Given the description of an element on the screen output the (x, y) to click on. 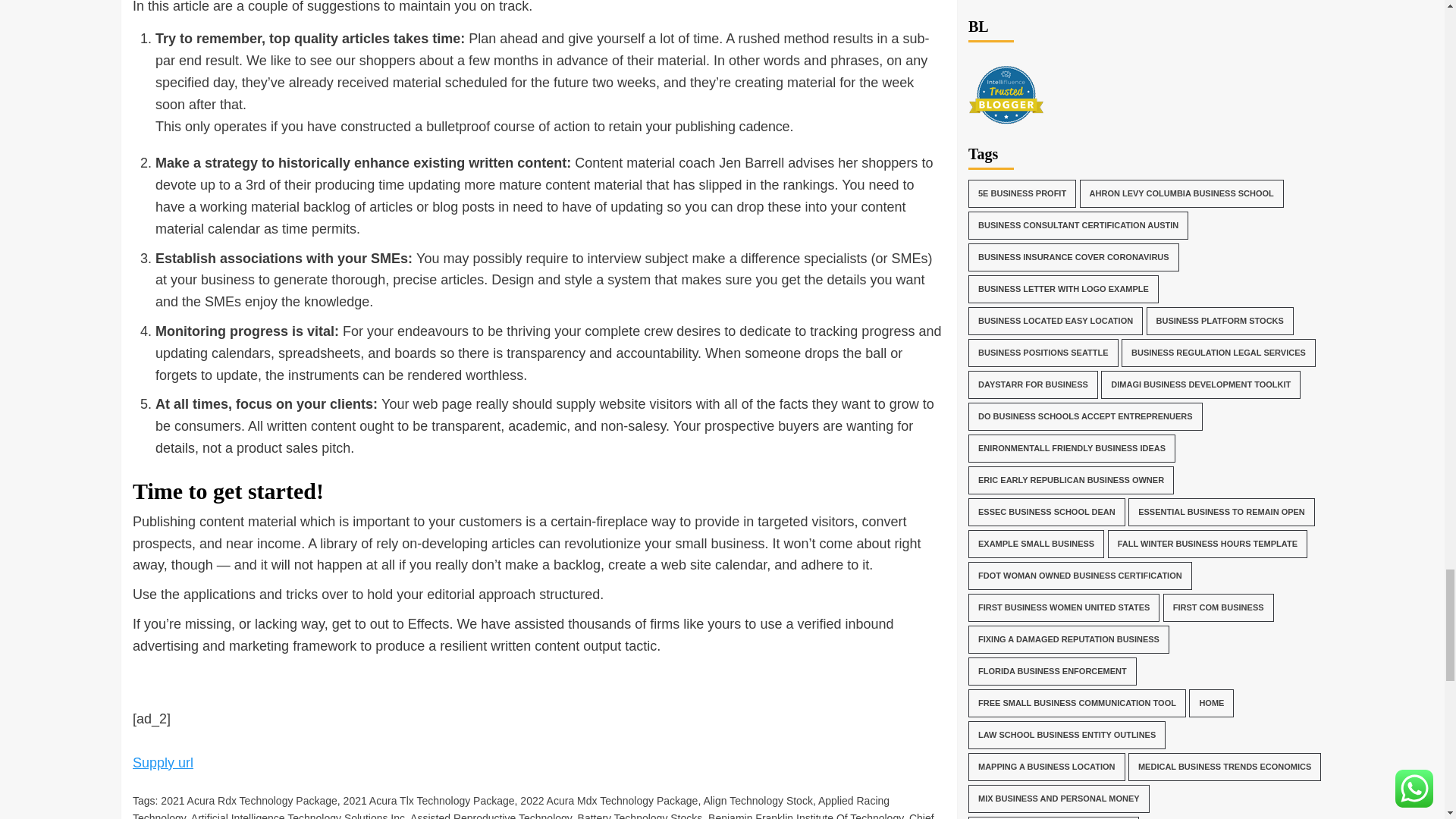
2021 Acura Tlx Technology Package (429, 800)
Supply url (162, 762)
Artificial Intelligence Technology Solutions Inc (297, 815)
Align Technology Stock (757, 800)
2022 Acura Mdx Technology Package (608, 800)
Applied Racing Technology (510, 806)
2021 Acura Rdx Technology Package (248, 800)
